Given the description of an element on the screen output the (x, y) to click on. 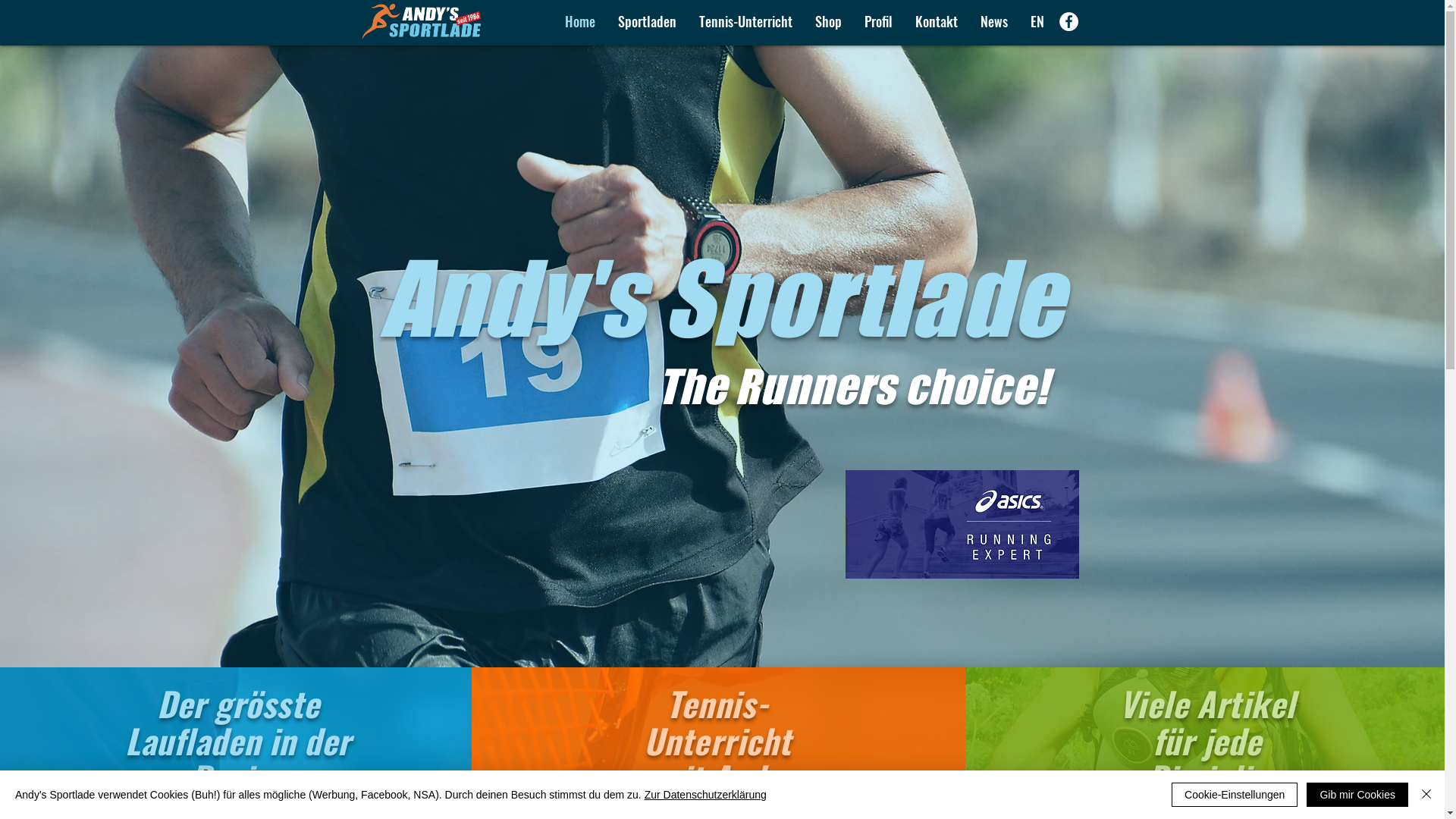
TWIPLA (Visitor Analytics) Element type: hover (294, 509)
Cookie-Einstellungen Element type: text (1234, 794)
Kontakt Element type: text (936, 21)
Profil Element type: text (877, 21)
News Element type: text (994, 21)
Sportladen Element type: text (646, 21)
Home Element type: text (579, 21)
Gib mir Cookies Element type: text (1357, 794)
EN Element type: text (1037, 21)
Tennis-Unterricht Element type: text (745, 21)
andys-sportlade-allschwil-basel-switzerl Element type: hover (961, 524)
